Given the description of an element on the screen output the (x, y) to click on. 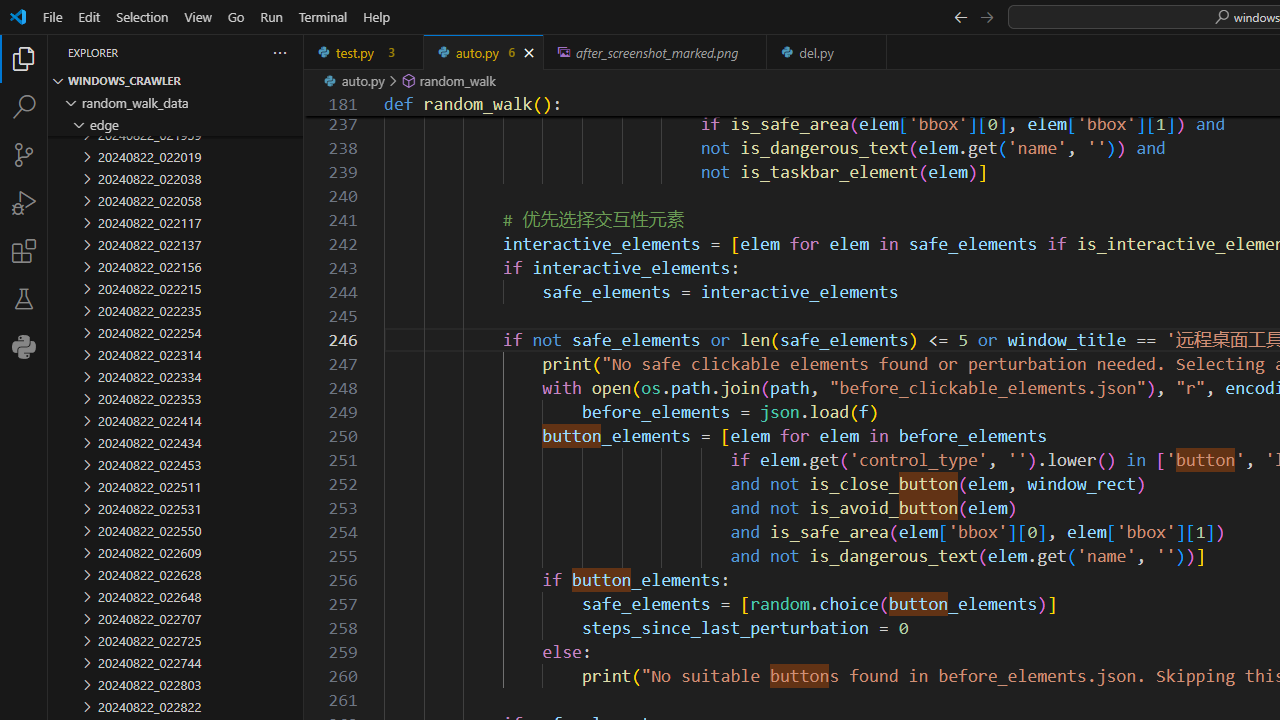
Selection (141, 16)
Extensions (Ctrl+Shift+X) (24, 250)
Explorer actions (208, 52)
Explorer (Ctrl+Shift+E) (24, 58)
Source Control (Ctrl+Shift+G) (24, 155)
Go Back (Alt+LeftArrow) (960, 16)
Go Forward (Alt+RightArrow) (986, 16)
Search (Ctrl+Shift+F) (24, 106)
test.py (363, 52)
Tab actions (872, 52)
Run (271, 16)
Explorer Section: windows_crawler (175, 80)
